Given the description of an element on the screen output the (x, y) to click on. 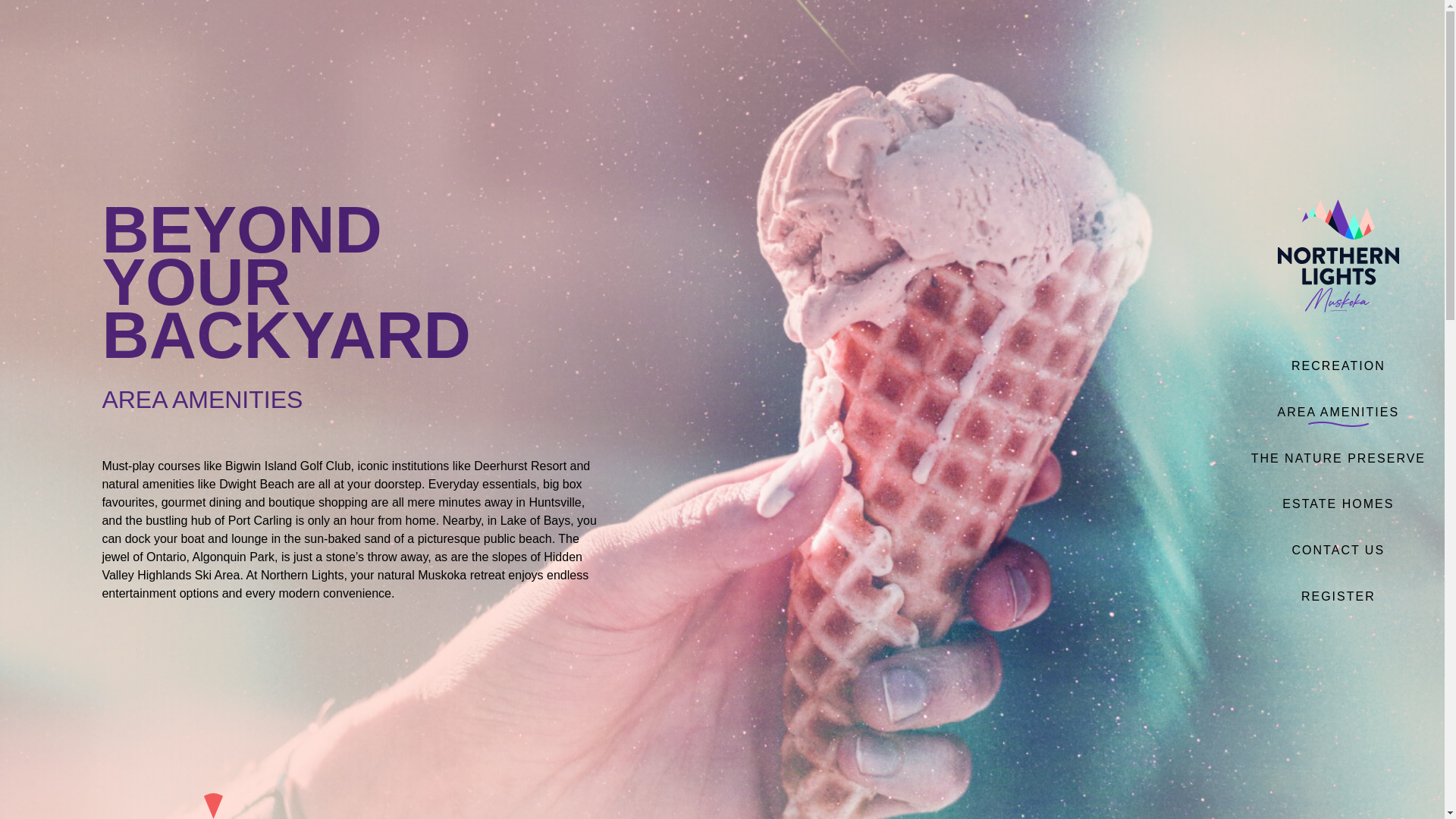
AREA AMENITIES (1337, 411)
CONTACT US (1337, 550)
ESTATE HOMES (1337, 503)
REGISTER (1337, 596)
RECREATION (1337, 366)
THE NATURE PRESERVE (1337, 457)
